Given the description of an element on the screen output the (x, y) to click on. 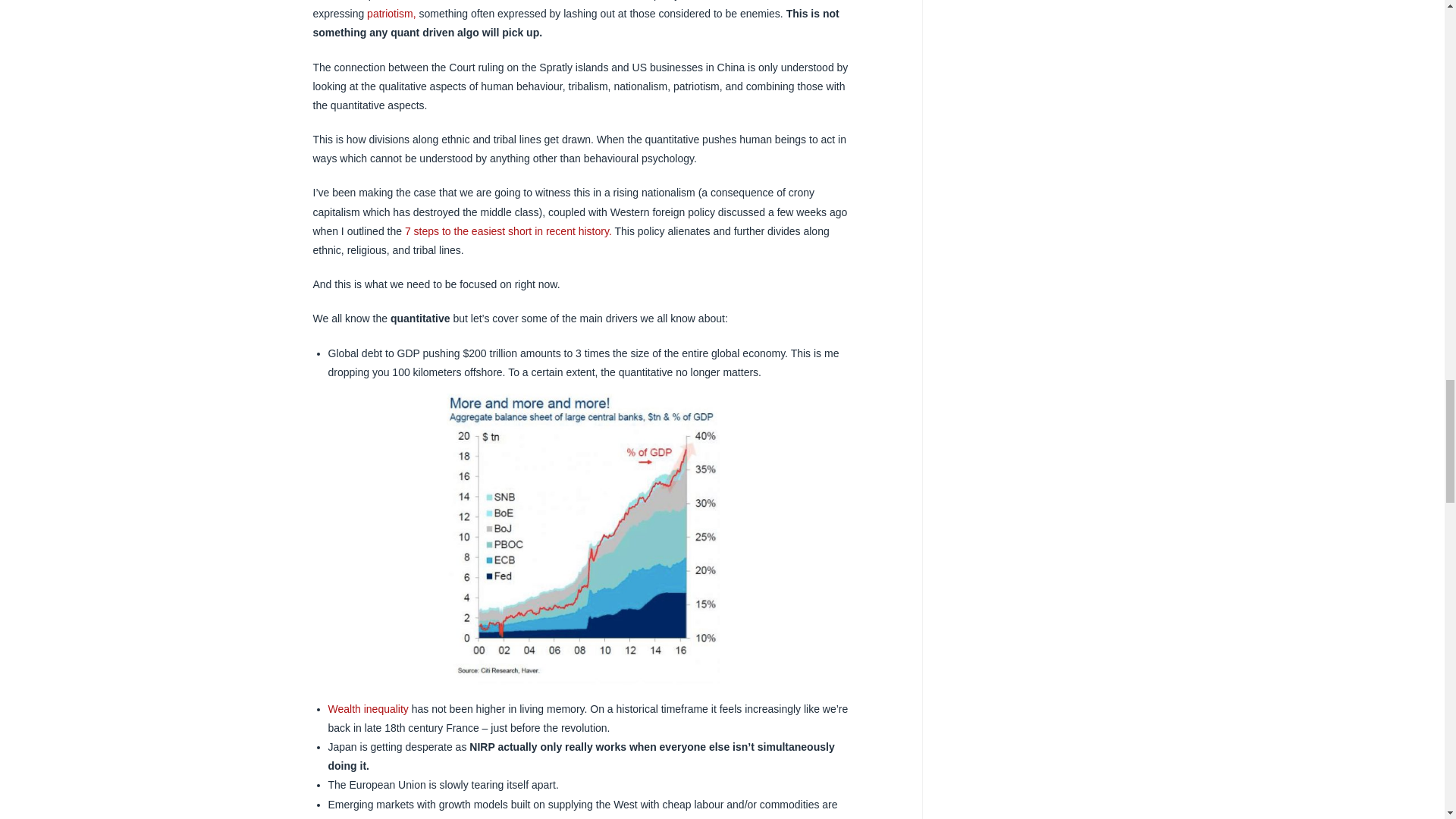
7 steps to the easiest short in recent history. (506, 231)
Wealth inequality (367, 708)
patriotism, (391, 13)
